Given the description of an element on the screen output the (x, y) to click on. 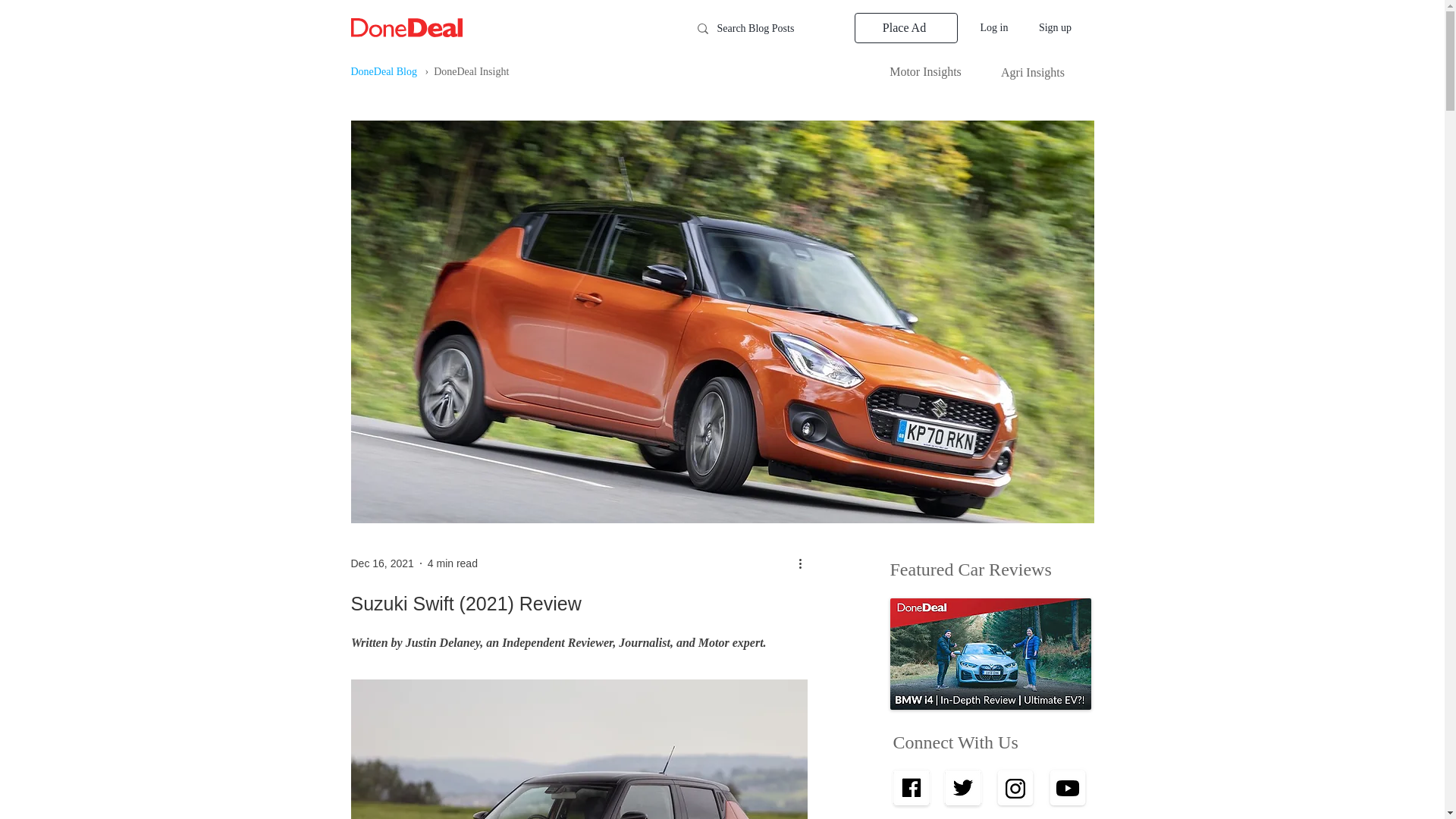
DoneDeal Facebook Page (963, 788)
Motor Insights (925, 72)
4 min read (452, 562)
DoneDeal Facebook Page (1067, 788)
Sign up (1055, 27)
DoneDeal Facebook Page (1013, 788)
Place Ad (904, 28)
Dec 16, 2021 (381, 562)
DoneDeal Blog (383, 71)
DoneDeal Facebook Page (911, 788)
Agri Insights (1032, 73)
Log in (993, 27)
